Given the description of an element on the screen output the (x, y) to click on. 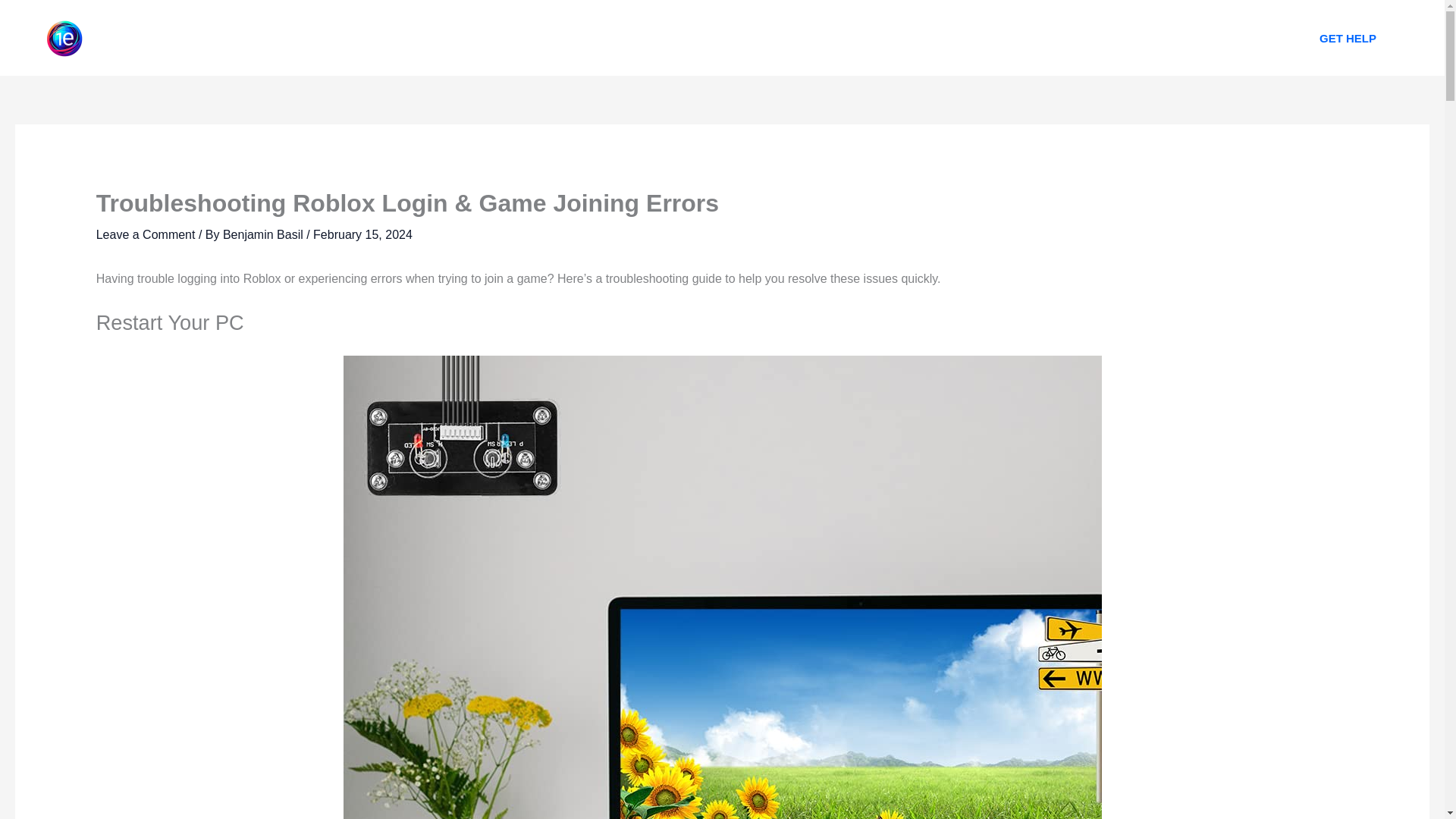
GET HELP (1348, 38)
CONTACT (841, 37)
ABOUT (662, 37)
Leave a Comment (145, 234)
HOME (592, 37)
OFFERINGS (747, 37)
View all posts by Benjamin Basil (263, 234)
Benjamin Basil (263, 234)
